Given the description of an element on the screen output the (x, y) to click on. 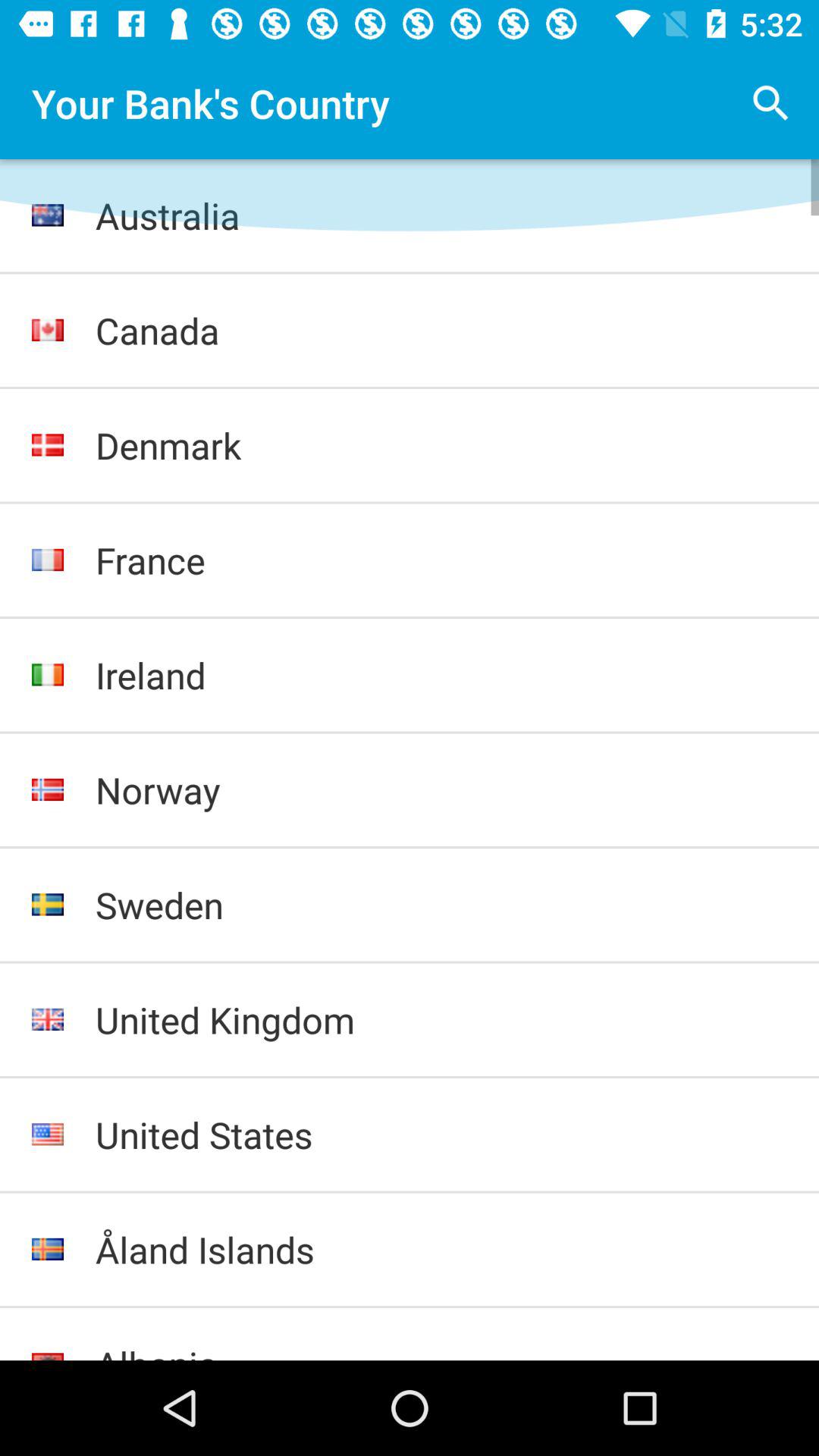
turn off the icon at the top right corner (771, 103)
